Given the description of an element on the screen output the (x, y) to click on. 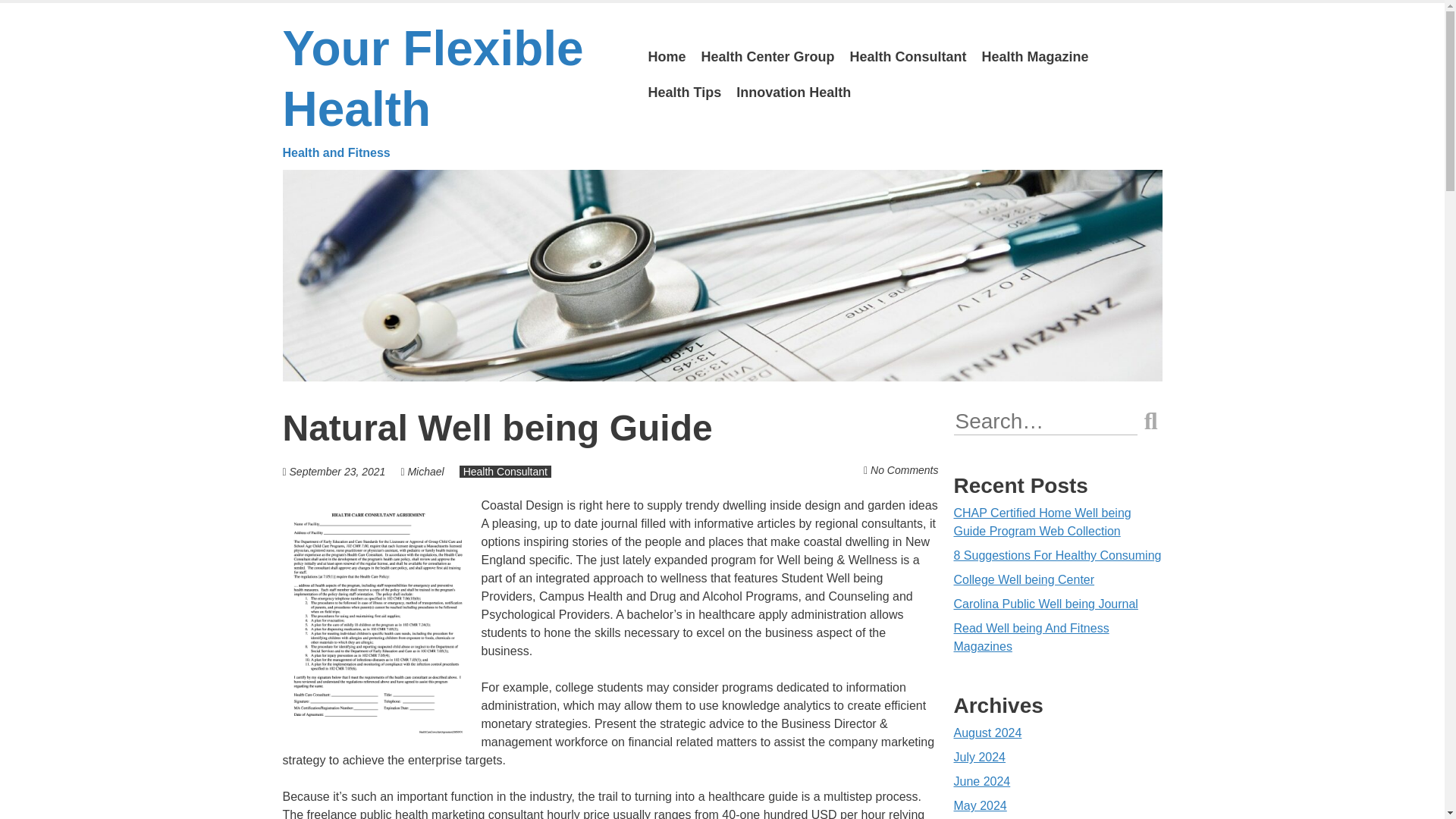
College Well being Center (1023, 579)
Health Tips (684, 92)
CHAP Certified Home Well being Guide Program Web Collection (1042, 521)
Your Flexible Health (453, 90)
View all posts by Michael (425, 471)
June 2024 (981, 780)
September 23, 2021 (337, 471)
May 2024 (980, 805)
Health Center Group (768, 57)
August 2024 (987, 732)
